Given the description of an element on the screen output the (x, y) to click on. 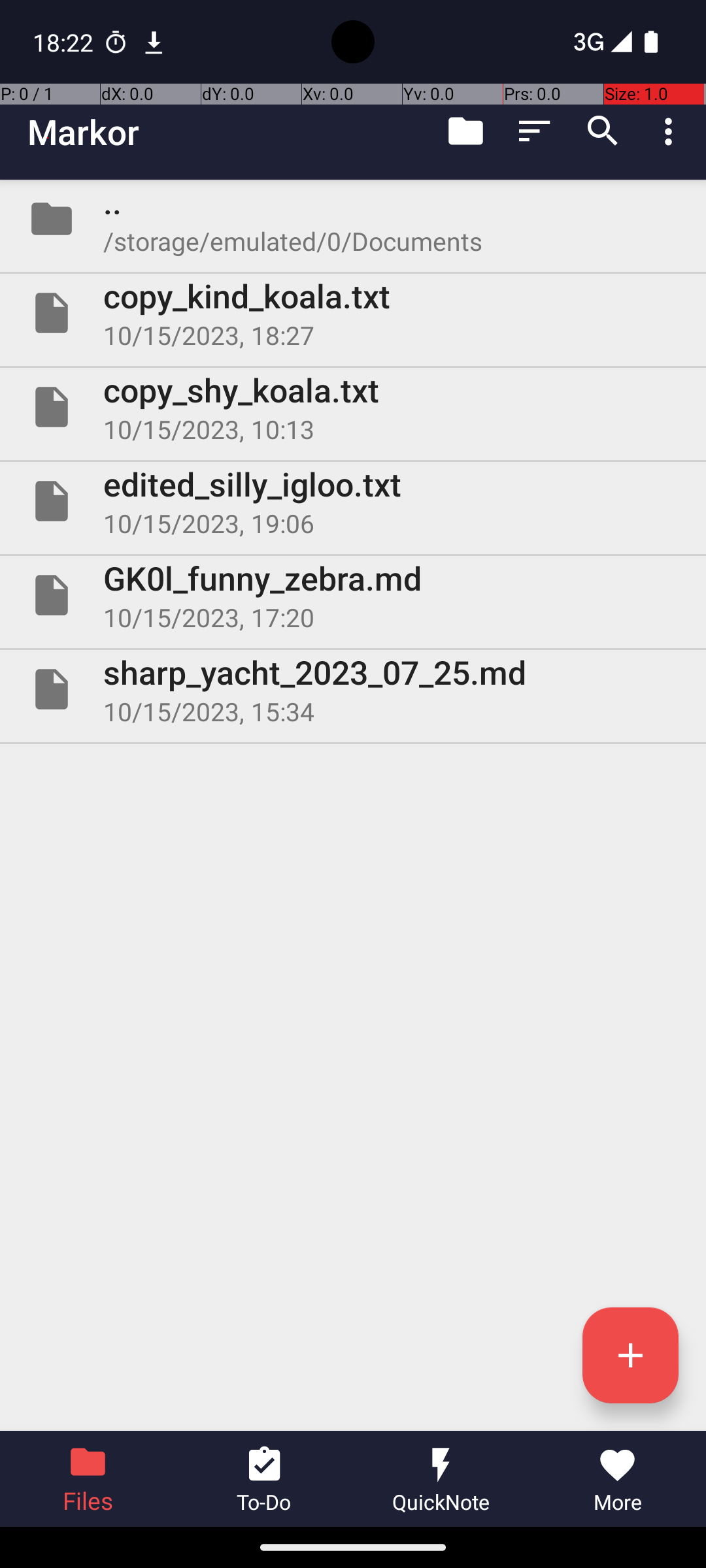
File copy_kind_koala.txt  Element type: android.widget.LinearLayout (353, 312)
File copy_shy_koala.txt  Element type: android.widget.LinearLayout (353, 406)
File edited_silly_igloo.txt  Element type: android.widget.LinearLayout (353, 500)
File GK0l_funny_zebra.md  Element type: android.widget.LinearLayout (353, 594)
File sharp_yacht_2023_07_25.md  Element type: android.widget.LinearLayout (353, 689)
18:22 Element type: android.widget.TextView (64, 41)
